Given the description of an element on the screen output the (x, y) to click on. 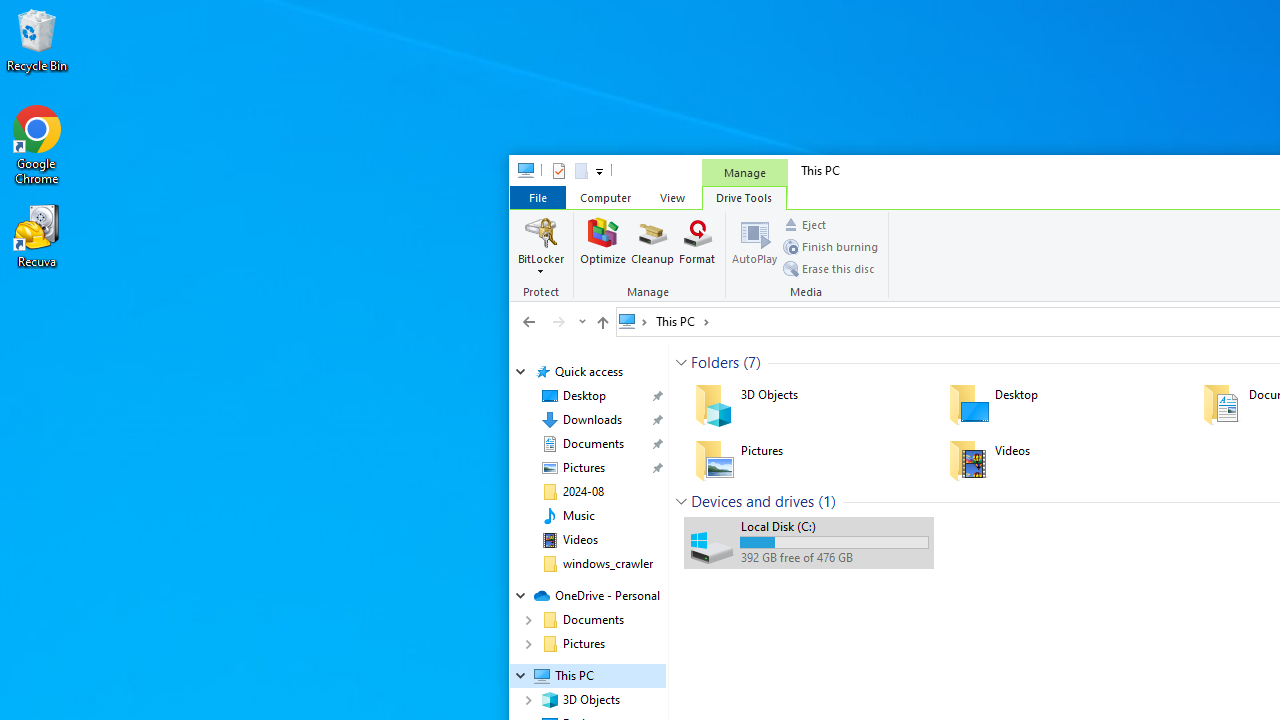
3D Objects (808, 403)
Format (698, 246)
Drive Tools (744, 196)
Local Disk (C:) (808, 542)
Finish burning (830, 246)
AutoPlay (754, 246)
windows_crawler (607, 564)
View (672, 196)
Desktop (1062, 403)
Forward (Alt + Right Arrow) (558, 321)
File tab (537, 196)
Desktop (pinned) (584, 395)
Up to "Desktop" (Alt + Up Arrow) (602, 322)
Pictures (808, 460)
Downloads (pinned) (592, 420)
